Given the description of an element on the screen output the (x, y) to click on. 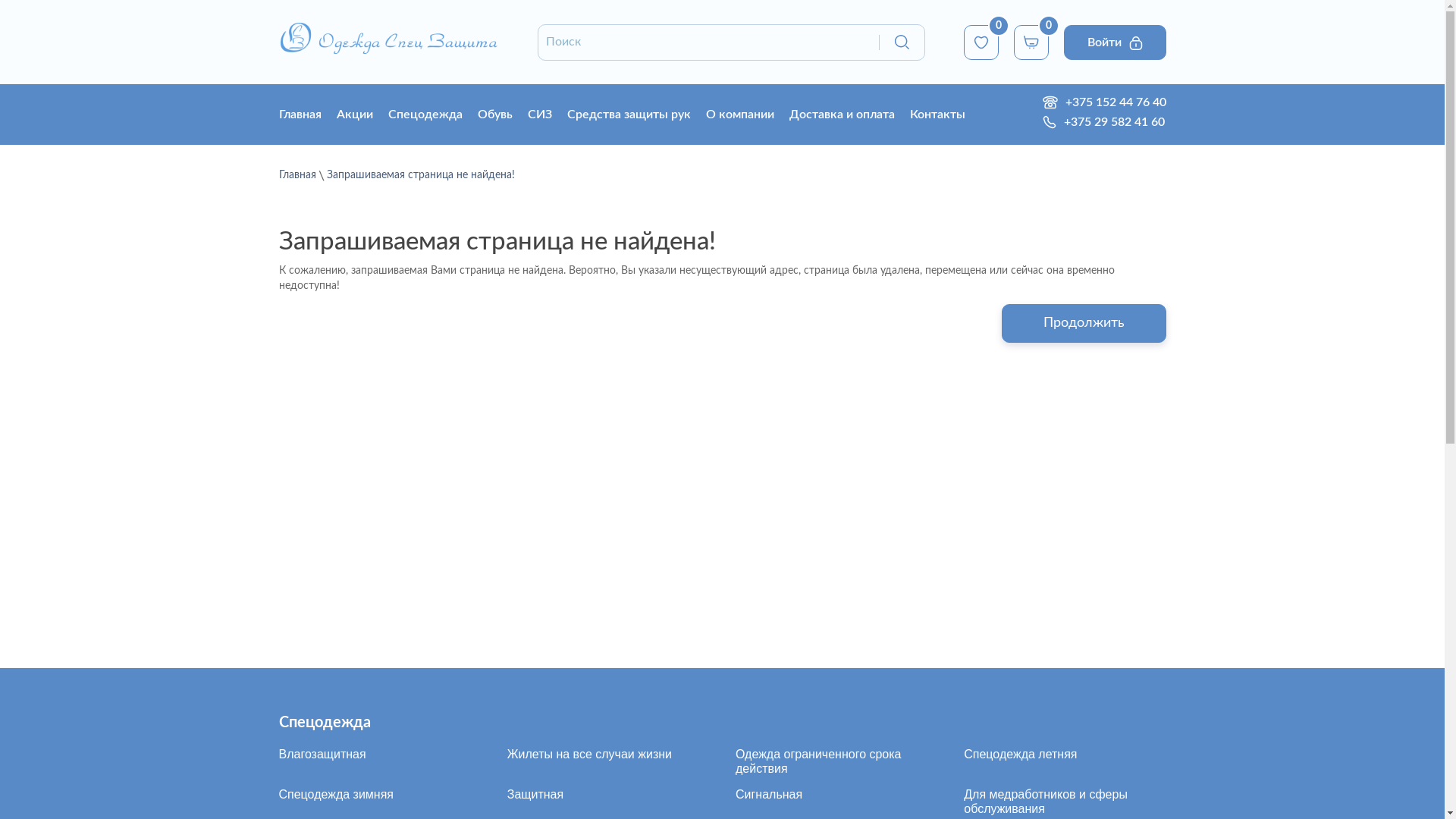
0 Element type: text (1030, 41)
+375 152 44 76 40 Element type: text (1111, 101)
+375 29 582 41 60 Element type: text (1109, 121)
0 Element type: text (980, 41)
